Given the description of an element on the screen output the (x, y) to click on. 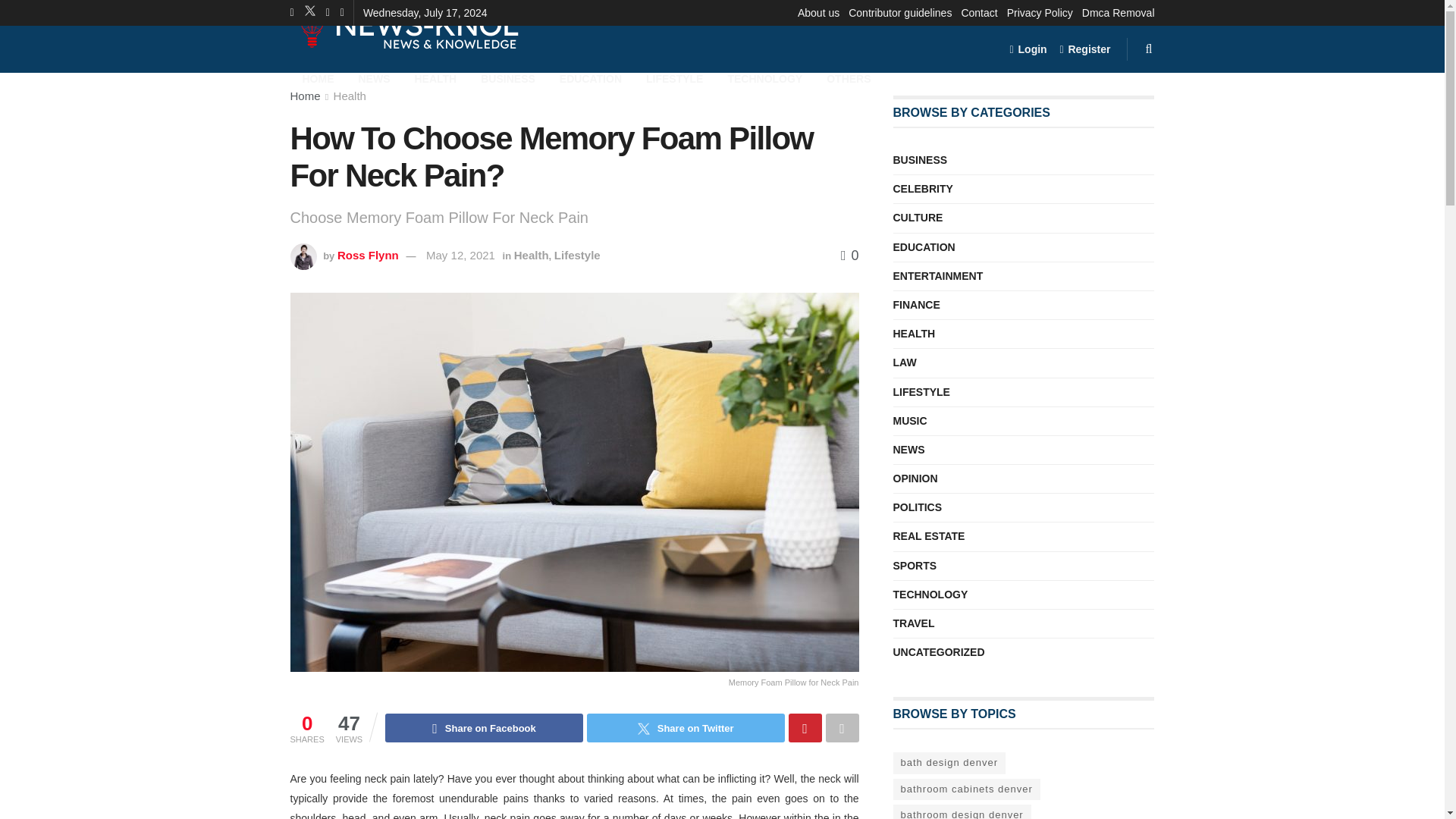
Register (1084, 48)
Dmca Removal (1117, 12)
HOME (317, 77)
TECHNOLOGY (763, 77)
Contributor guidelines (900, 12)
EDUCATION (590, 77)
About us (818, 12)
Health (349, 95)
Contact (978, 12)
HEALTH (434, 77)
Lifestyle (576, 254)
NEWS (373, 77)
May 12, 2021 (460, 254)
0 (850, 255)
Home (304, 95)
